Given the description of an element on the screen output the (x, y) to click on. 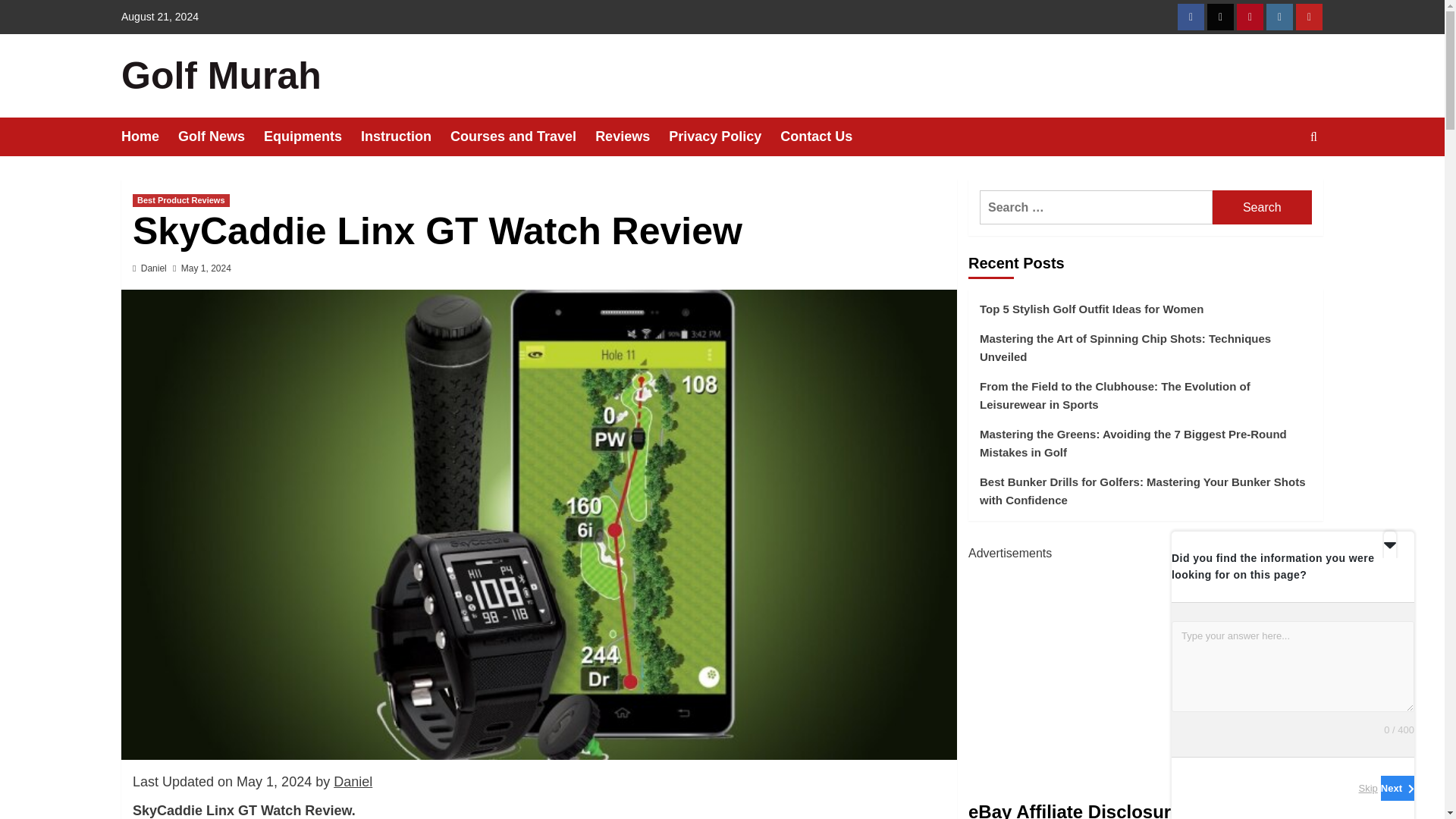
Best Product Reviews (181, 200)
Search (1261, 207)
Golf News (220, 136)
Golf Murah (220, 75)
Twitter (1220, 17)
Daniel (154, 267)
Advertisement (1145, 669)
Instruction (405, 136)
Search (1278, 183)
Equipments (312, 136)
